Given the description of an element on the screen output the (x, y) to click on. 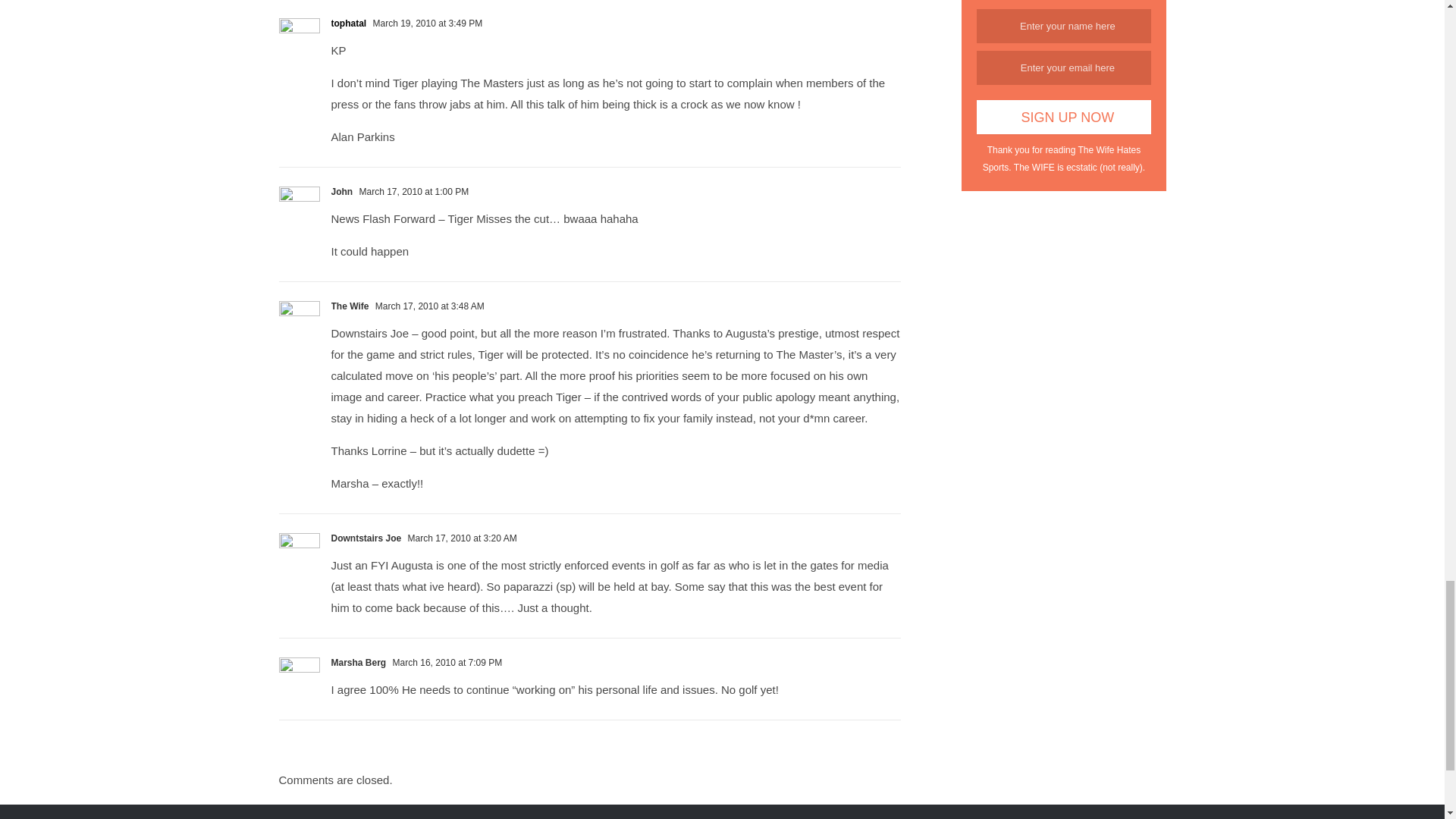
Sign Up Now (1063, 116)
